Given the description of an element on the screen output the (x, y) to click on. 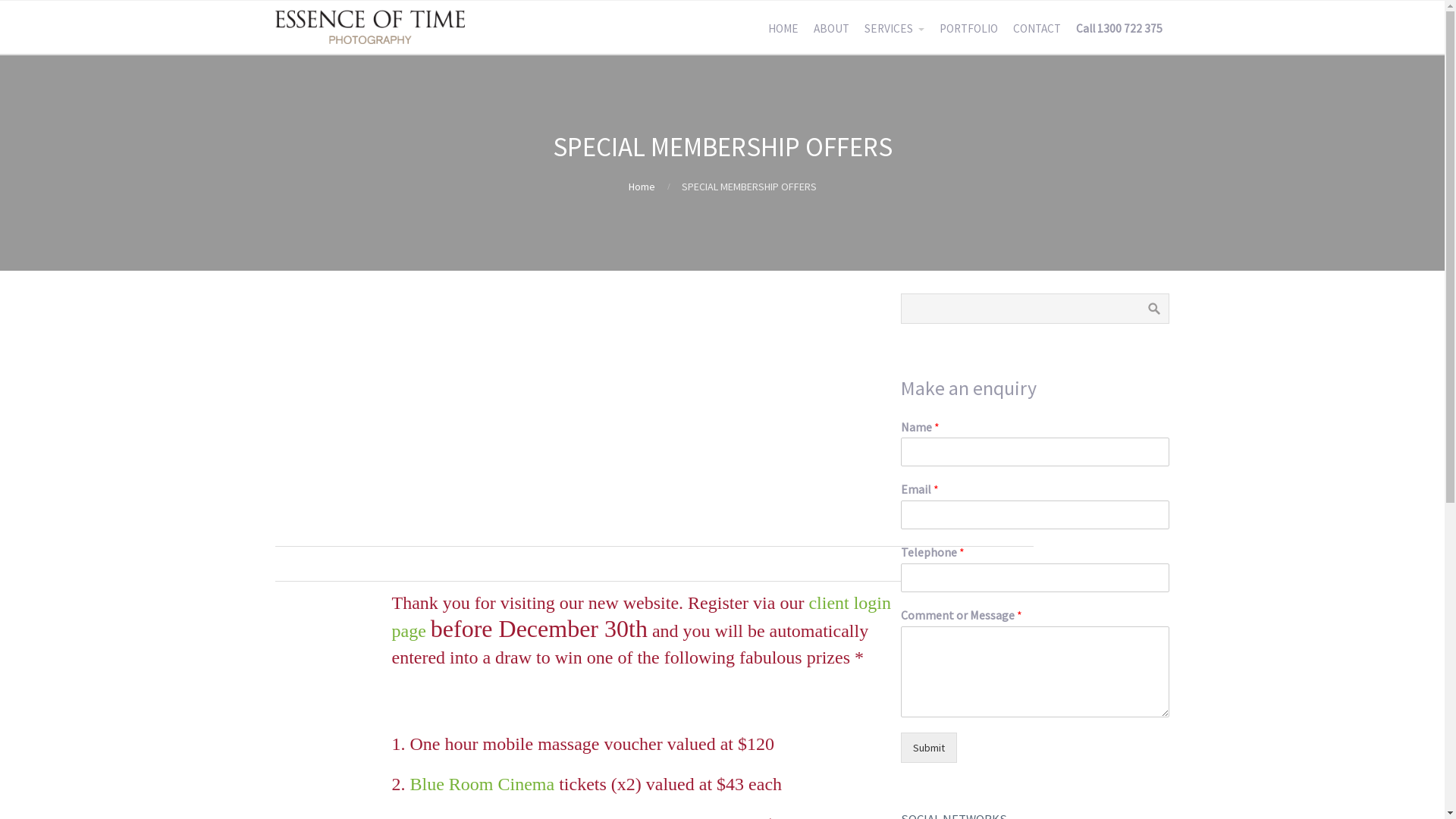
Home Element type: text (640, 186)
ABOUT Element type: text (830, 29)
Blue Room Cinema Element type: text (481, 783)
Call 1300 722 375 Element type: text (1118, 29)
HOME Element type: text (782, 29)
Submit Element type: text (928, 747)
Search Element type: text (1154, 308)
client login page Element type: text (641, 617)
PORTFOLIO Element type: text (967, 29)
CONTACT Element type: text (1036, 29)
SERVICES Element type: text (893, 29)
